Given the description of an element on the screen output the (x, y) to click on. 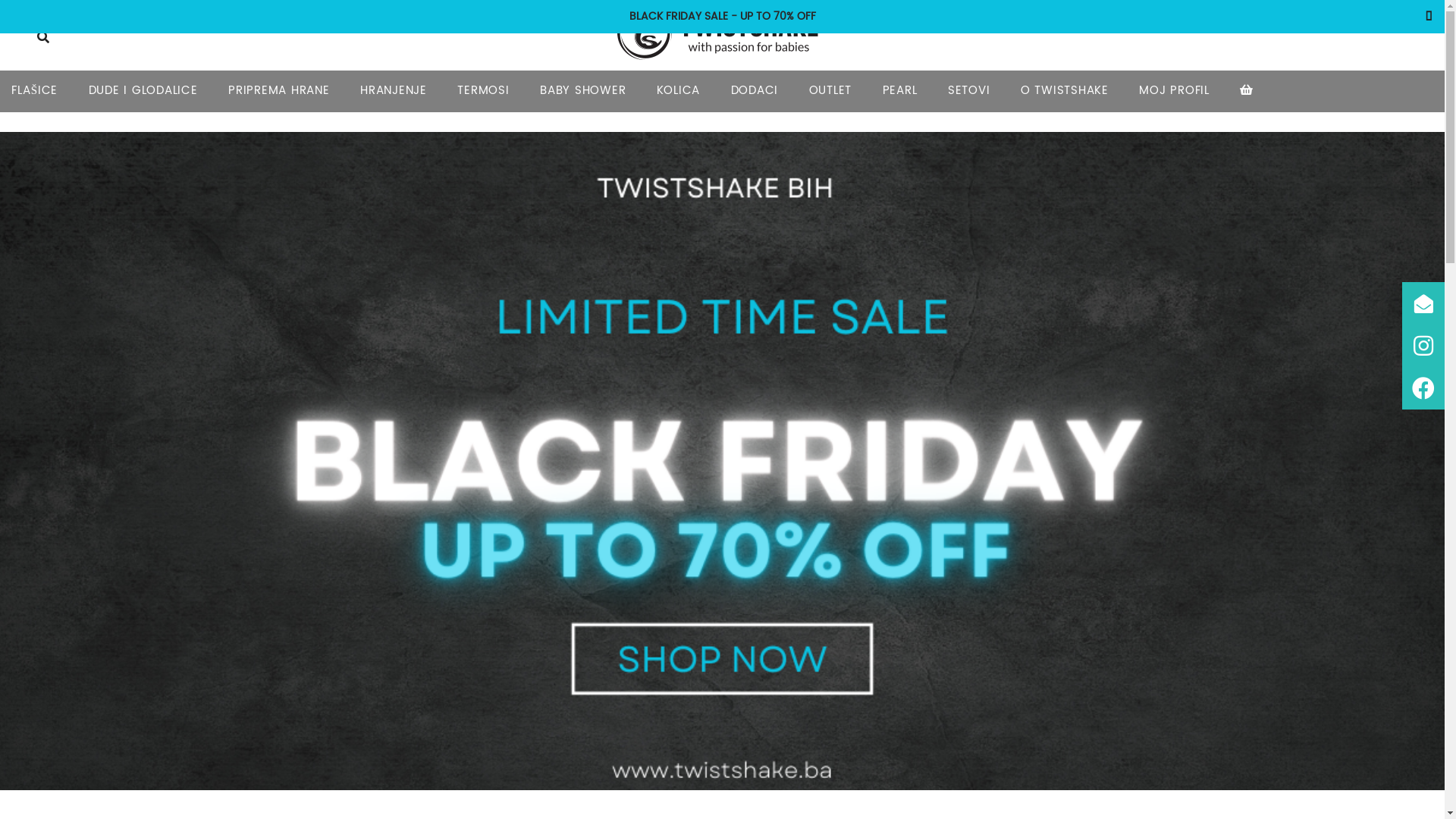
DODACI Element type: text (754, 91)
OUTLET Element type: text (830, 91)
DUDE I GLODALICE Element type: text (142, 91)
BABY SHOWER Element type: text (582, 91)
With Passion For Babies Element type: hover (722, 32)
KOLICA Element type: text (678, 91)
HRANJENJE Element type: text (393, 91)
Skip to content Element type: text (266, 78)
PEARL Element type: text (899, 91)
SETOVI Element type: text (968, 91)
MOJ PROFIL Element type: text (1174, 91)
O TWISTSHAKE Element type: text (1064, 91)
TERMOSI Element type: text (482, 91)
PRIPREMA HRANE Element type: text (278, 91)
